Given the description of an element on the screen output the (x, y) to click on. 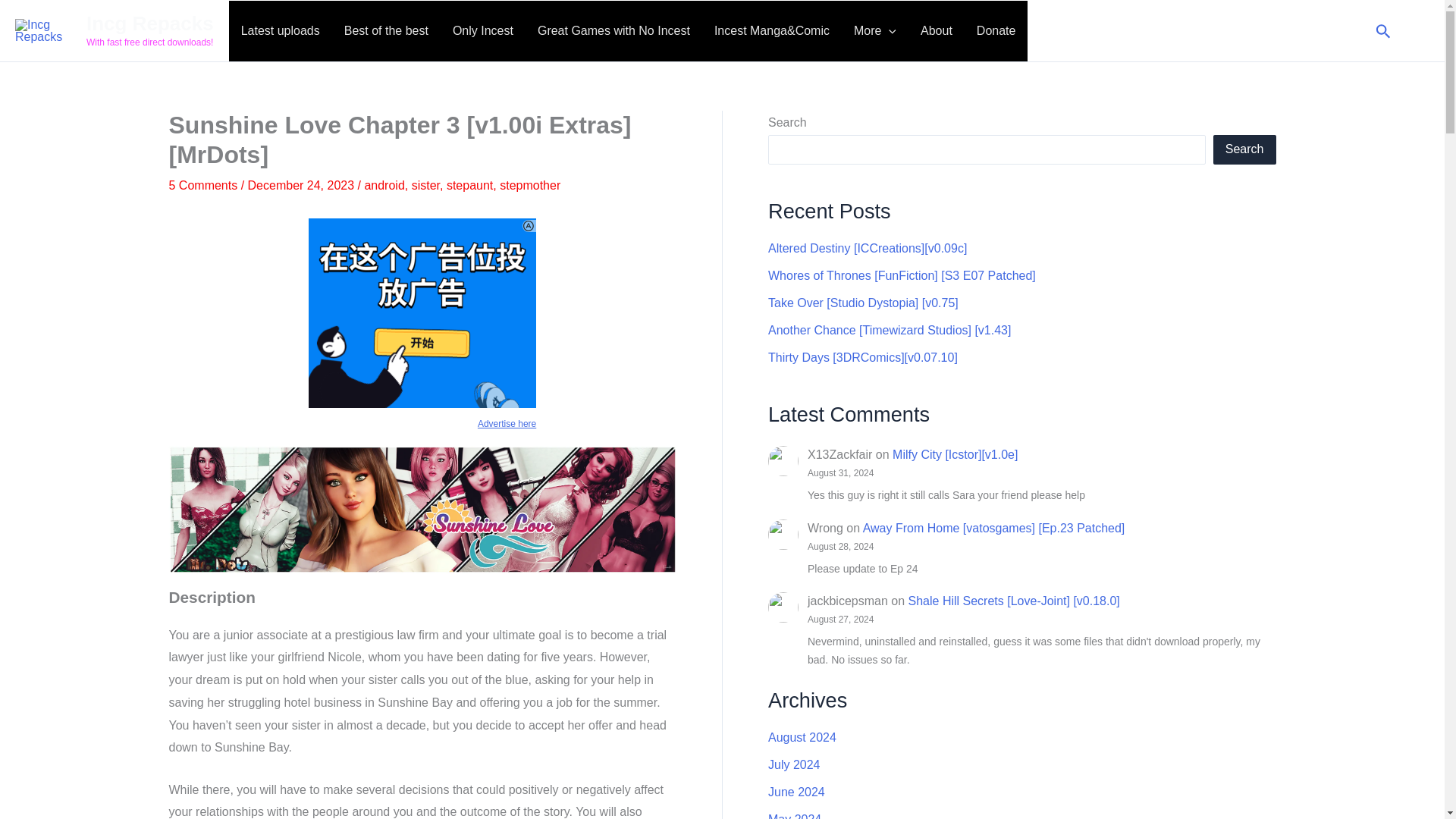
sister (425, 185)
stepmother (529, 185)
Latest uploads (279, 30)
More (874, 30)
Great Games with No Incest (613, 30)
5 Comments (202, 185)
About (935, 30)
Best of the best (386, 30)
android (384, 185)
stepaunt (469, 185)
